Given the description of an element on the screen output the (x, y) to click on. 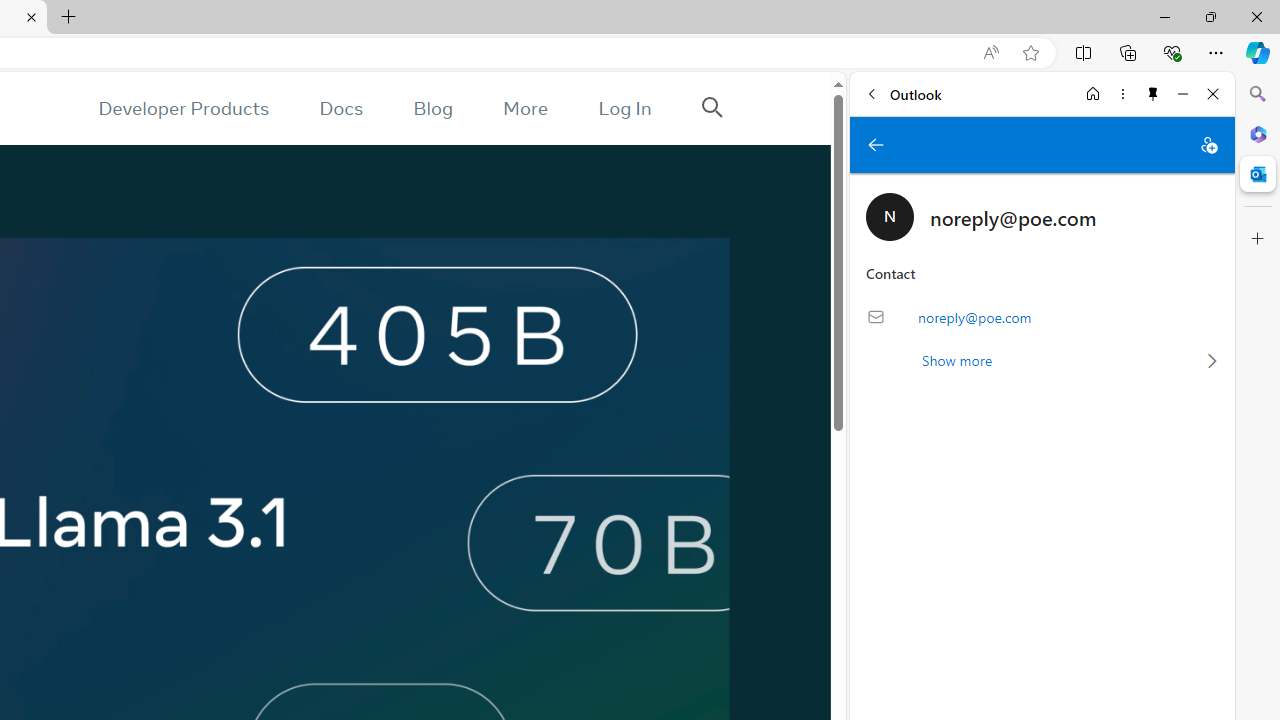
Blog (432, 108)
Log In (625, 108)
More (525, 108)
Show more (1042, 360)
Blog (432, 108)
Developer Products (183, 108)
More (525, 108)
